Given the description of an element on the screen output the (x, y) to click on. 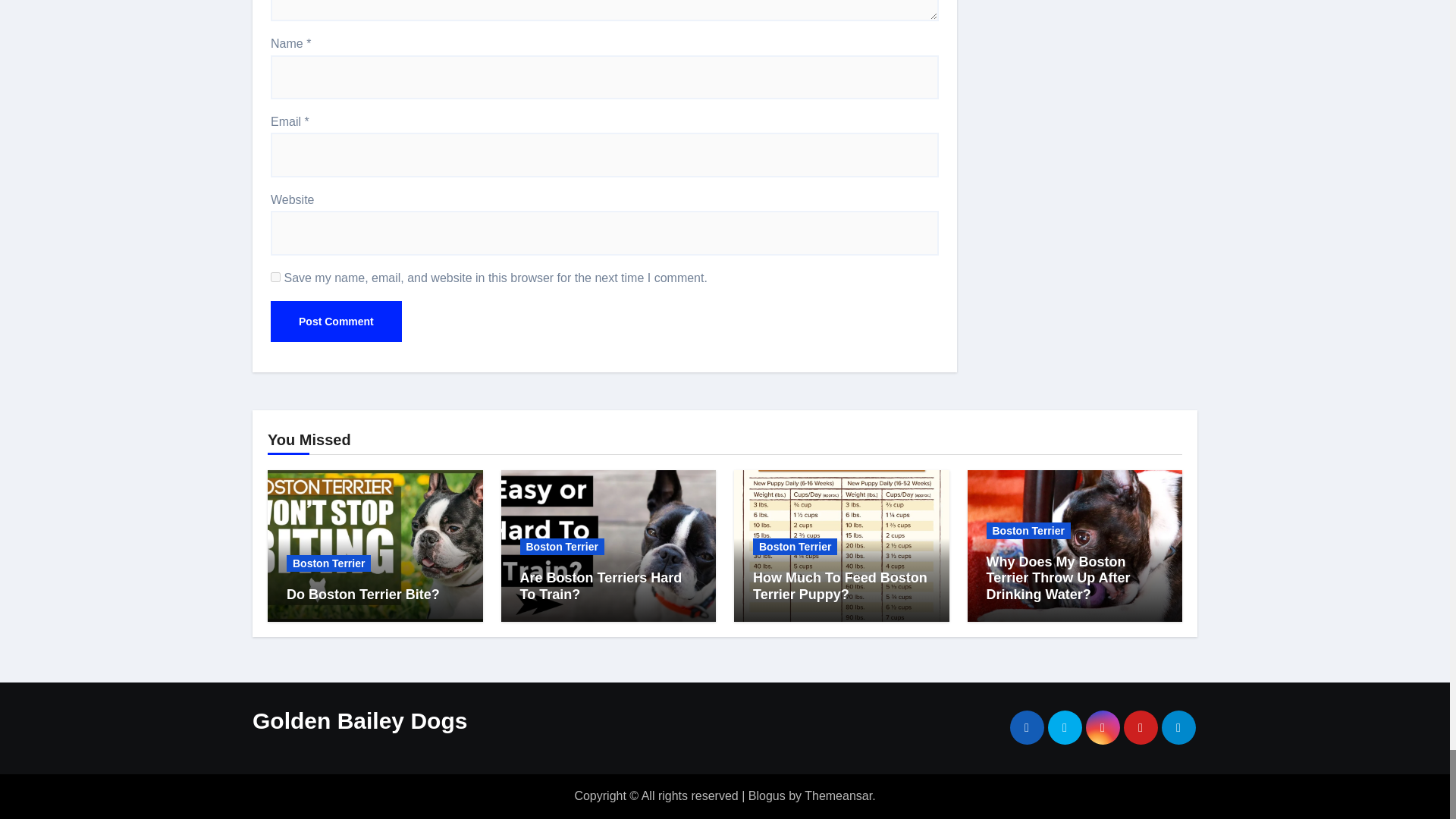
yes (275, 276)
Post Comment (335, 321)
